Given the description of an element on the screen output the (x, y) to click on. 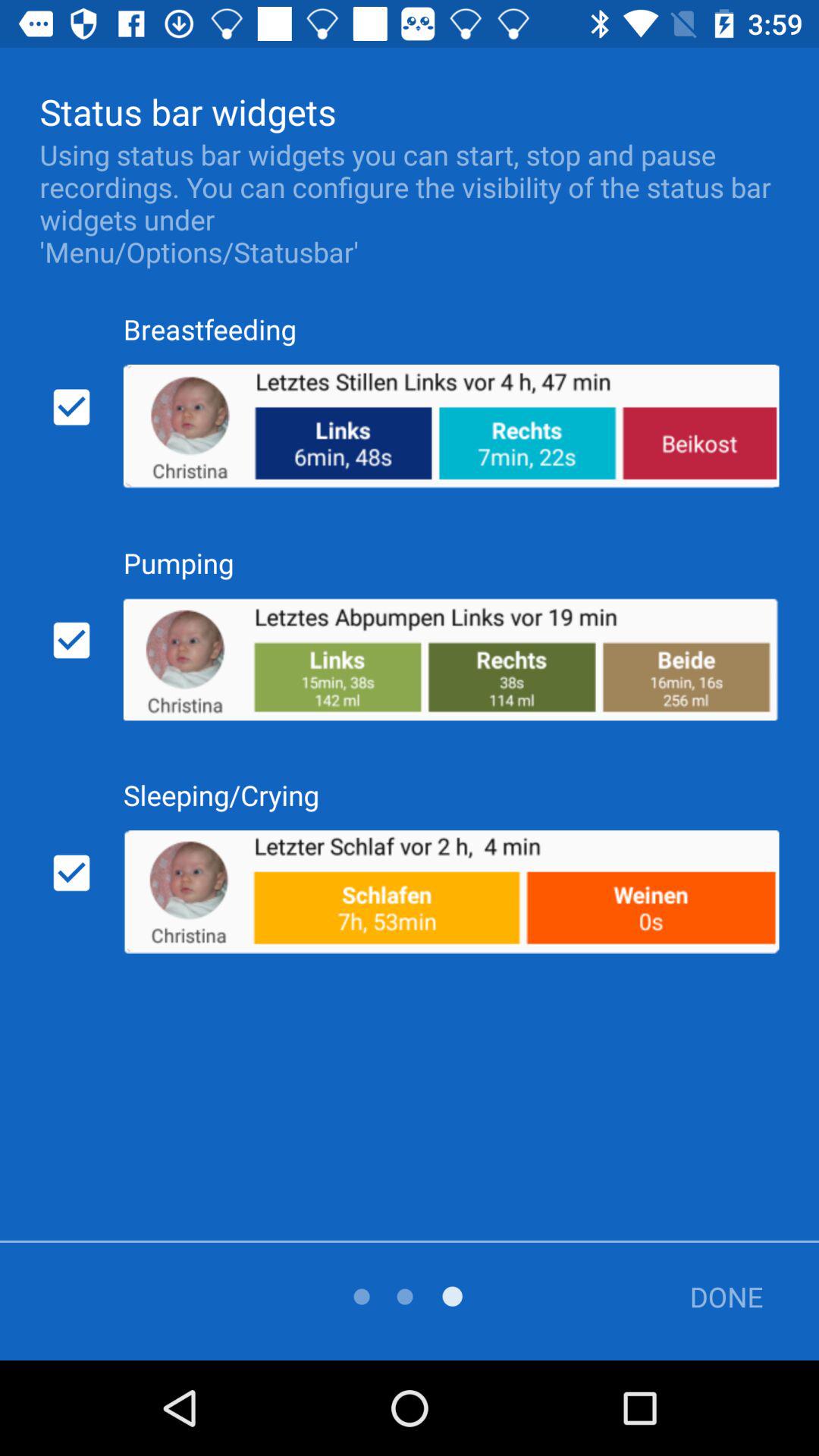
click the icon below using status bar icon (71, 407)
